Given the description of an element on the screen output the (x, y) to click on. 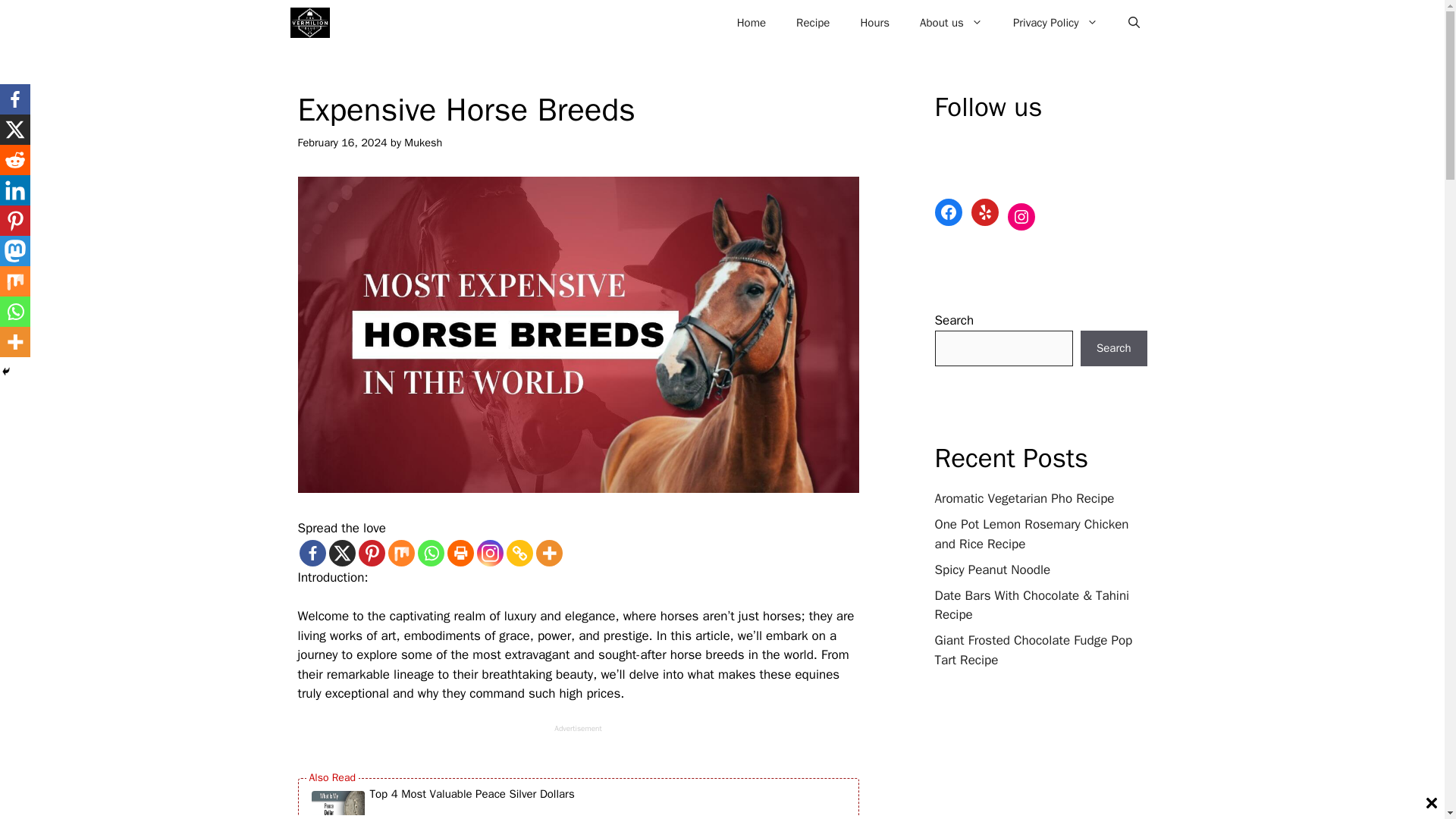
About us (950, 22)
Recipe (812, 22)
Mukesh (423, 142)
Privacy Policy (1055, 22)
Whatsapp (430, 552)
Mix (401, 552)
Facebook (947, 212)
X (342, 552)
Instagram (489, 552)
More (548, 552)
Pinterest (371, 552)
Hours (874, 22)
Home (751, 22)
Copy Link (519, 552)
Print (460, 552)
